Given the description of an element on the screen output the (x, y) to click on. 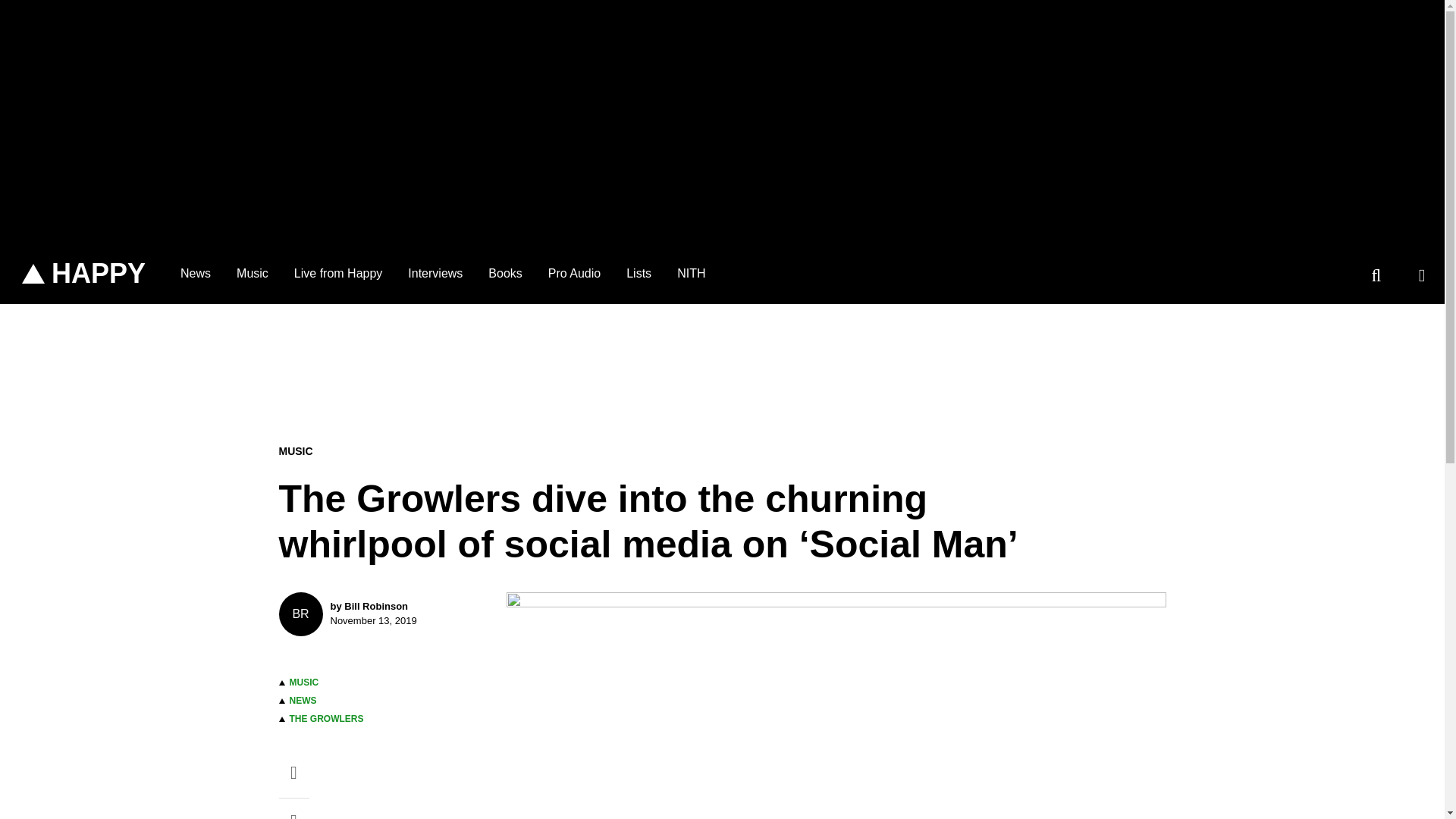
Books (505, 273)
Interviews (435, 273)
Live from Happy (338, 273)
News (195, 273)
MUSIC (303, 682)
HAPPY (83, 273)
News (195, 273)
Pro Audio (573, 273)
NEWS (381, 614)
